Given the description of an element on the screen output the (x, y) to click on. 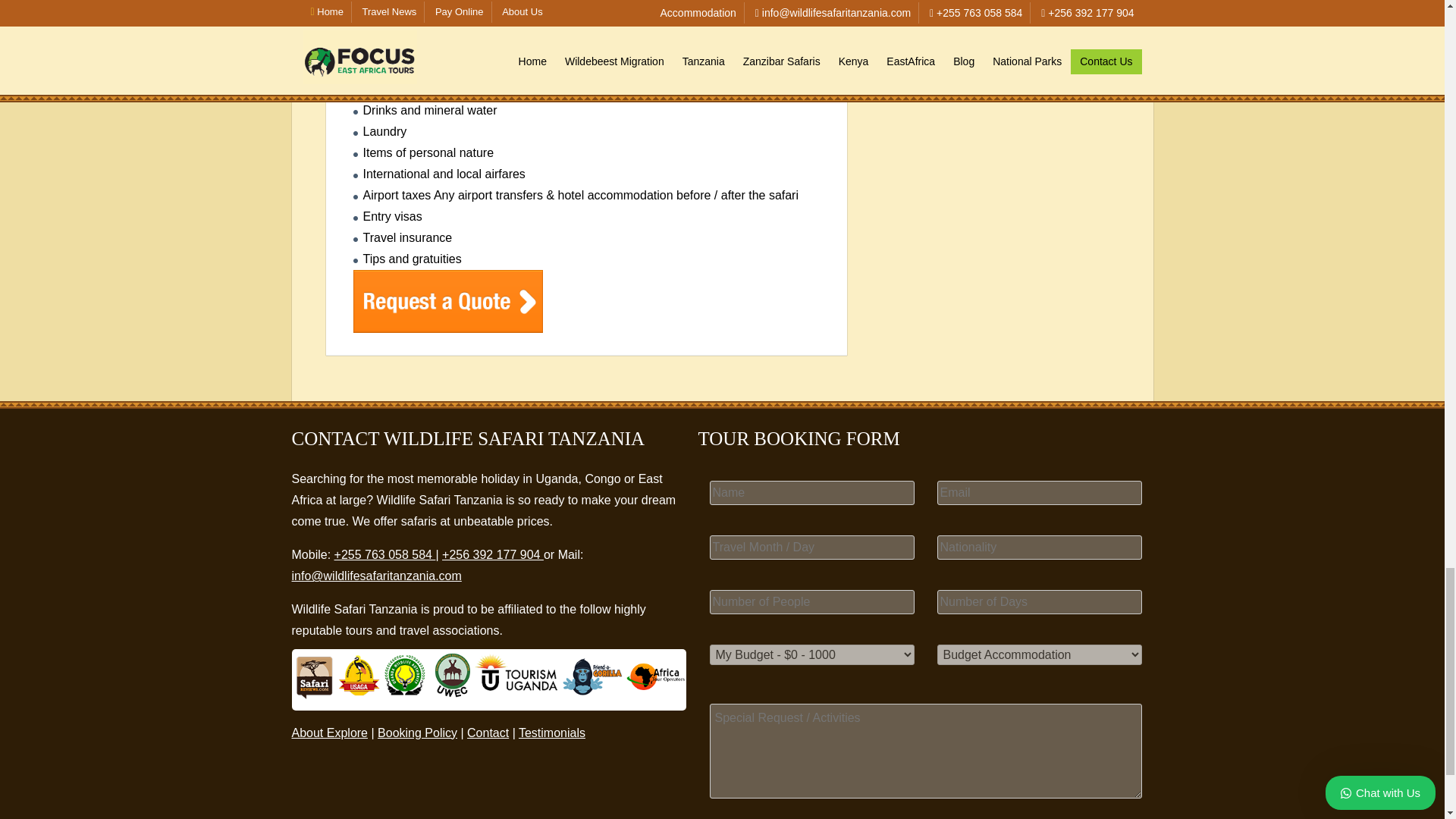
Testimonials (551, 732)
About Explore (329, 732)
Booking Policy (417, 732)
Contact (487, 732)
